Given the description of an element on the screen output the (x, y) to click on. 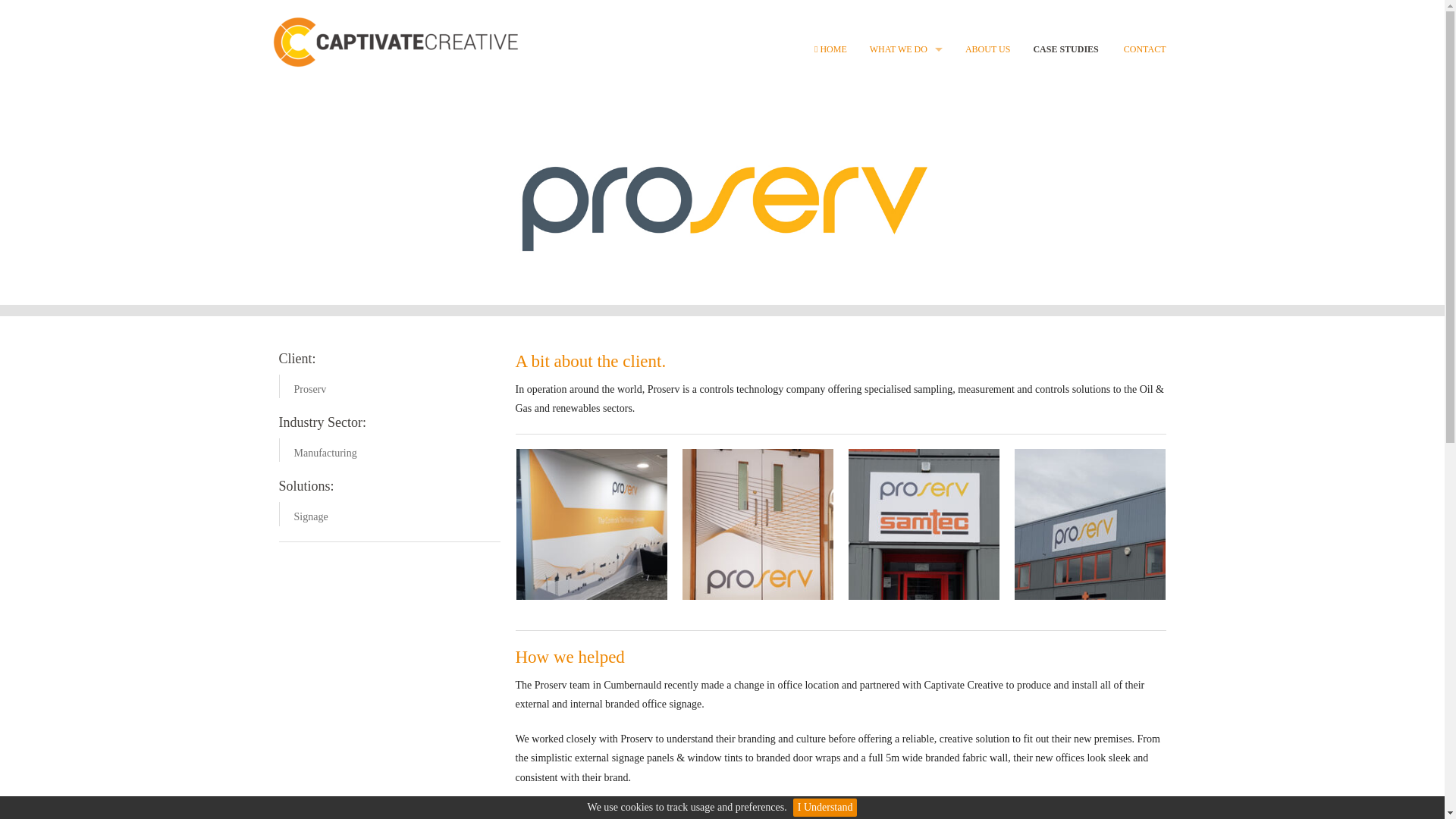
PRINTED MATERIAL (906, 103)
FLAGS (906, 342)
CASE STUDIES (1065, 48)
DESIGN (906, 376)
WHAT WE DO (906, 48)
ABOUT US (987, 48)
I Understand (825, 807)
CONTACT (1143, 48)
EVENT BRANDING (906, 308)
BRANDED MERCHANDISE (906, 274)
